Given the description of an element on the screen output the (x, y) to click on. 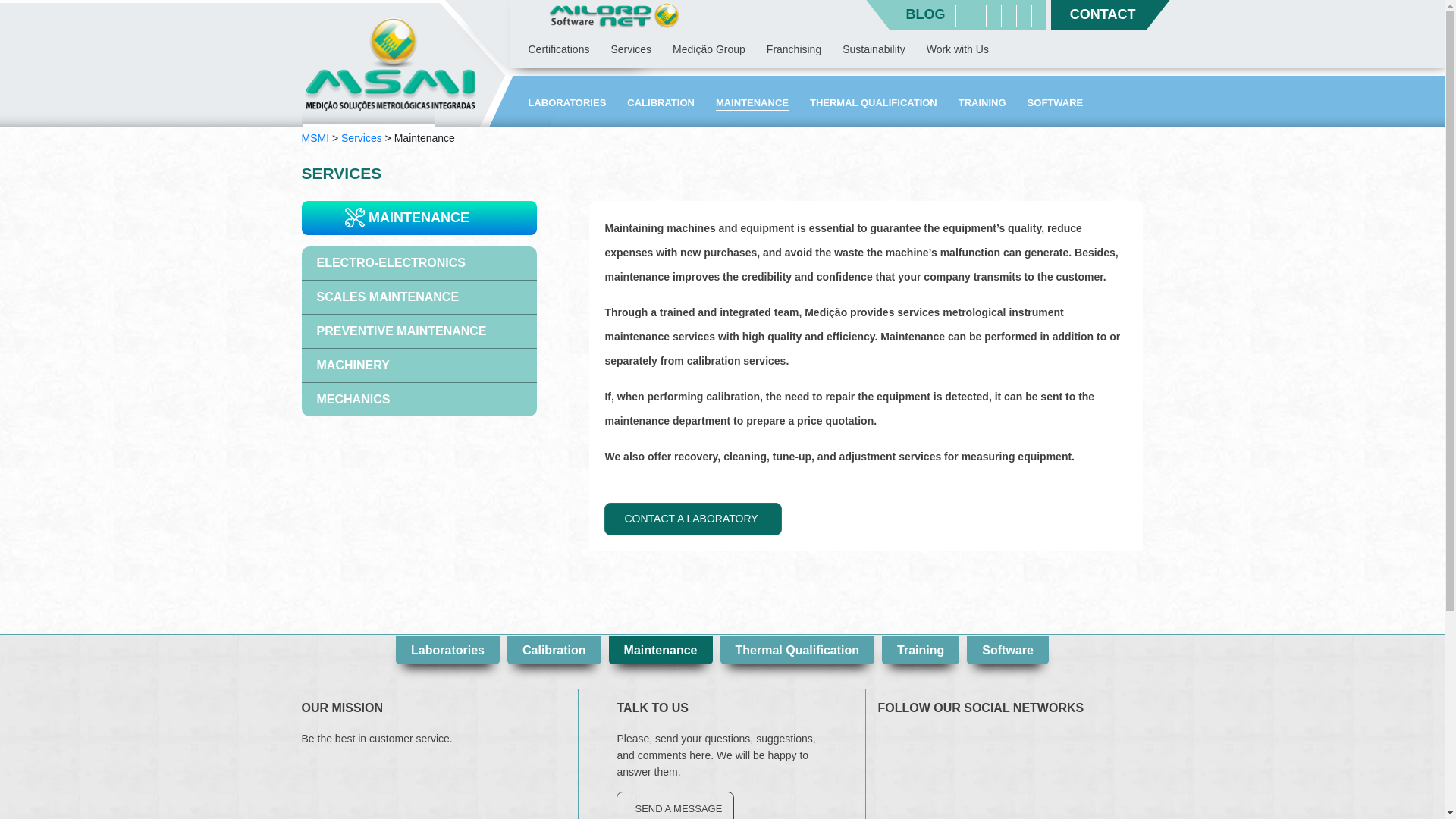
Services (630, 49)
CALIBRATION (660, 103)
Laboratories (566, 103)
Rede Social (978, 16)
Work with Us (957, 49)
SCALES MAINTENANCE (419, 297)
Sustainability (874, 49)
TRAINING (982, 103)
metrologia, solucoes metrologicas (390, 61)
Rede Social (1008, 16)
MSMI (315, 137)
Rede Social (1023, 16)
CONTACT (1096, 14)
Services (360, 137)
BLOG (925, 14)
